Given the description of an element on the screen output the (x, y) to click on. 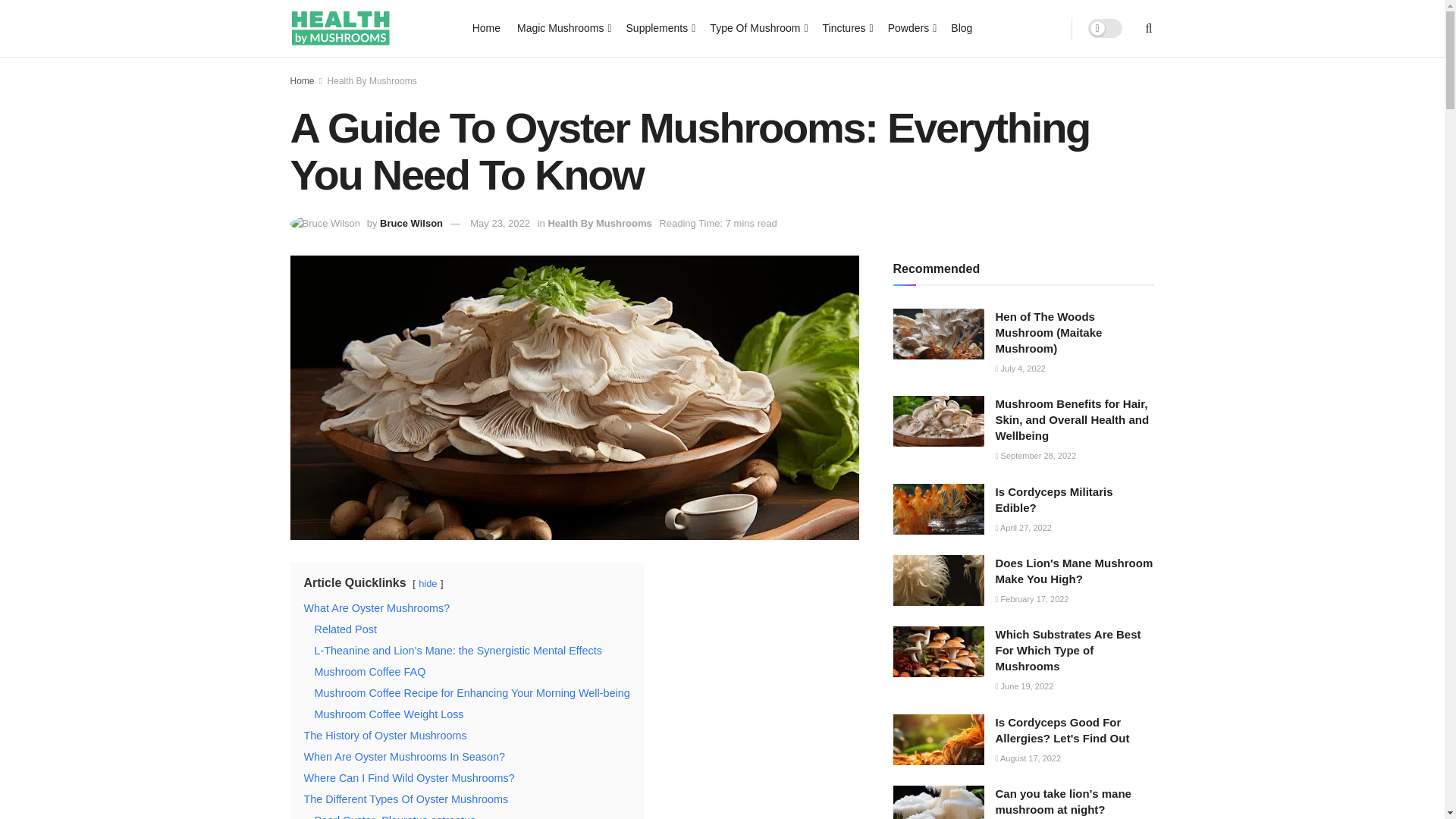
Supplements (660, 27)
Type Of Mushroom (757, 27)
Magic Mushrooms (563, 27)
Home (485, 27)
